Given the description of an element on the screen output the (x, y) to click on. 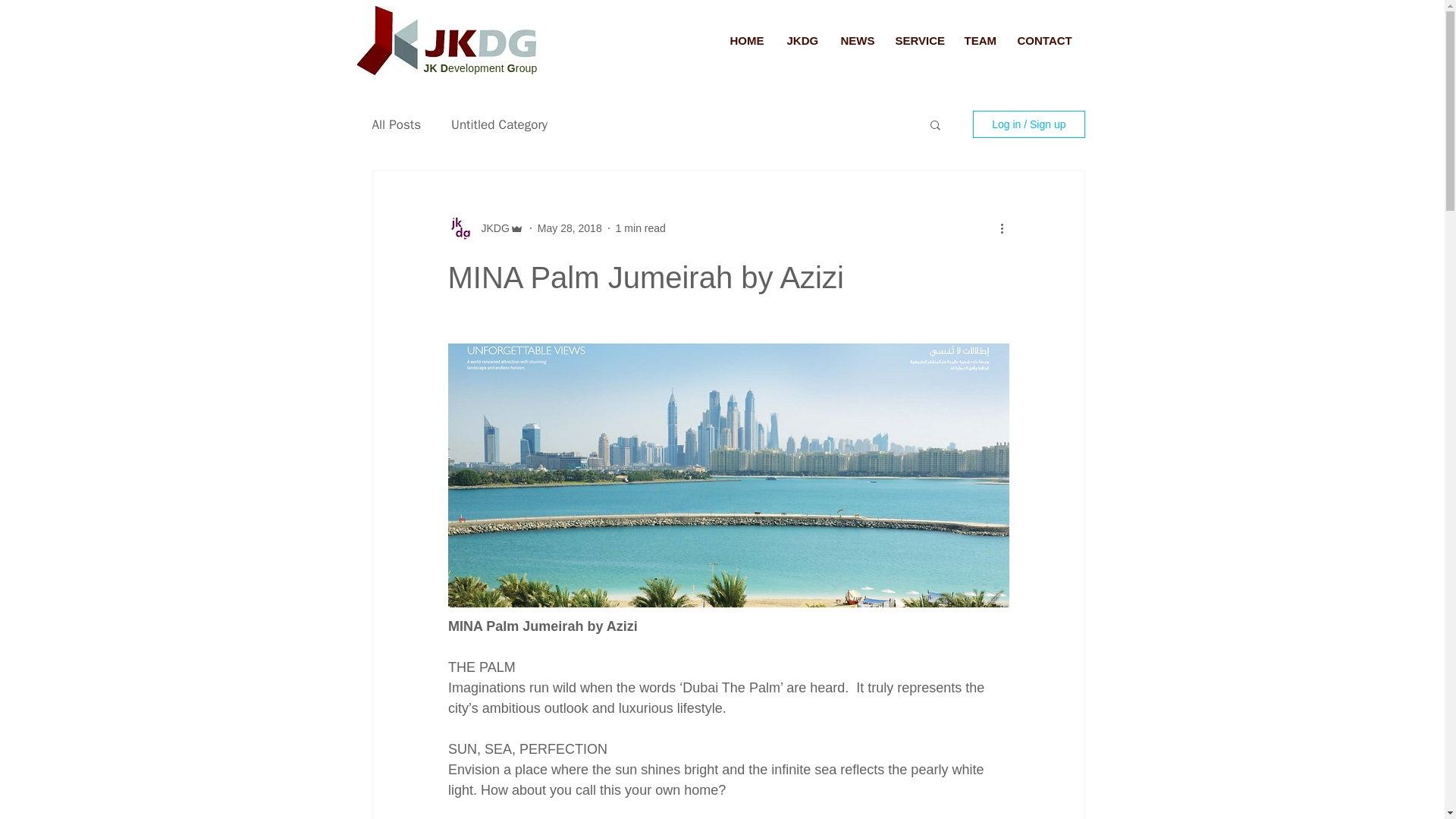
TEAM (979, 40)
Untitled Category (499, 123)
HOME (747, 40)
SERVICE (918, 40)
JKDG (801, 40)
JKDG (489, 227)
JK Development Group (480, 68)
CONTACT (1043, 40)
NEWS (856, 40)
May 28, 2018 (569, 227)
1 min read (640, 227)
All Posts (395, 123)
